Given the description of an element on the screen output the (x, y) to click on. 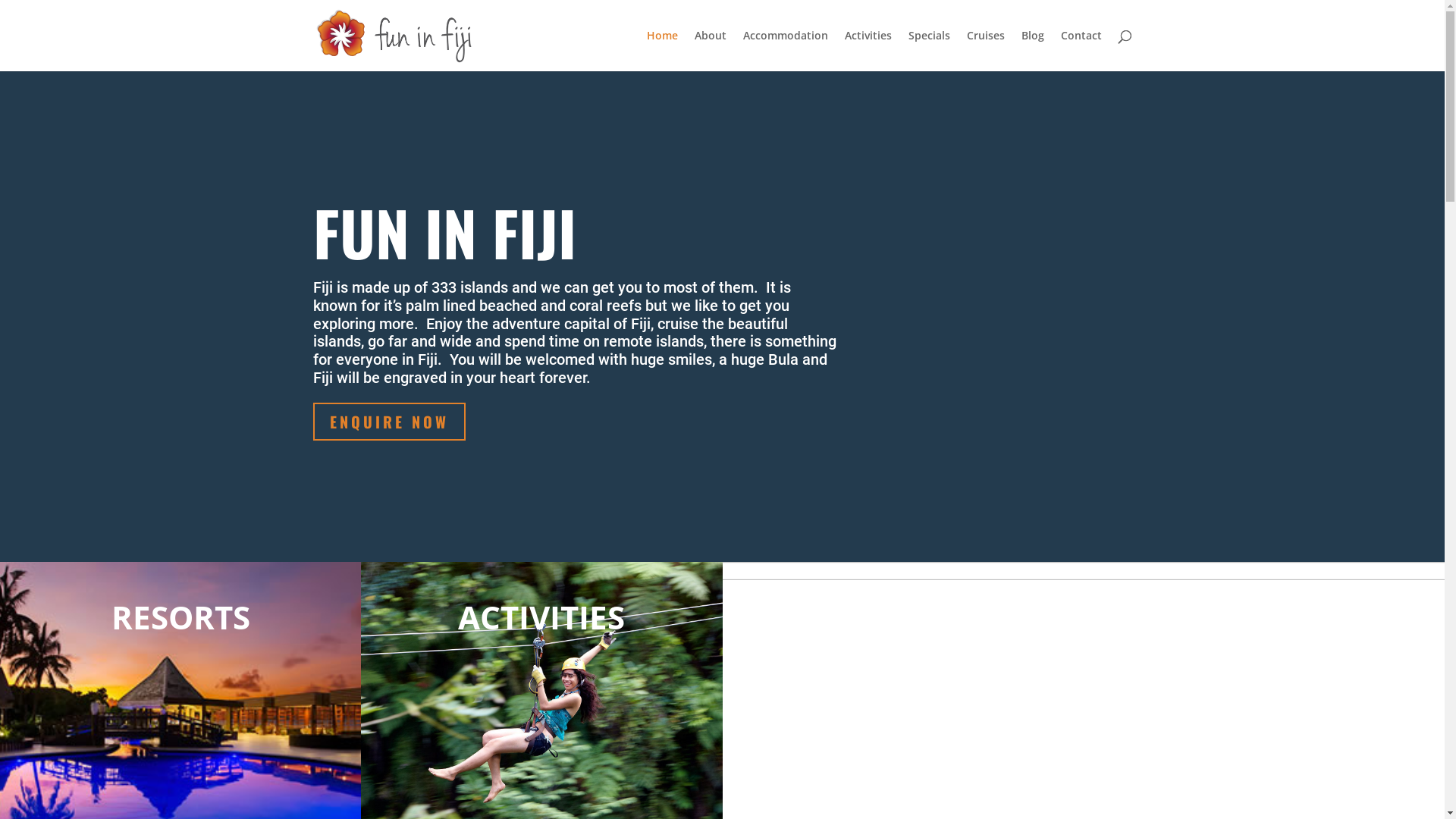
Activities Element type: text (867, 50)
ENQUIRE NOW Element type: text (388, 421)
Specials Element type: text (929, 50)
Contact Element type: text (1080, 50)
Home Element type: text (661, 50)
Cruises Element type: text (985, 50)
ZIPLINE 1 Element type: hover (505, 682)
Blog Element type: text (1031, 50)
Accommodation Element type: text (785, 50)
About Element type: text (710, 50)
